Given the description of an element on the screen output the (x, y) to click on. 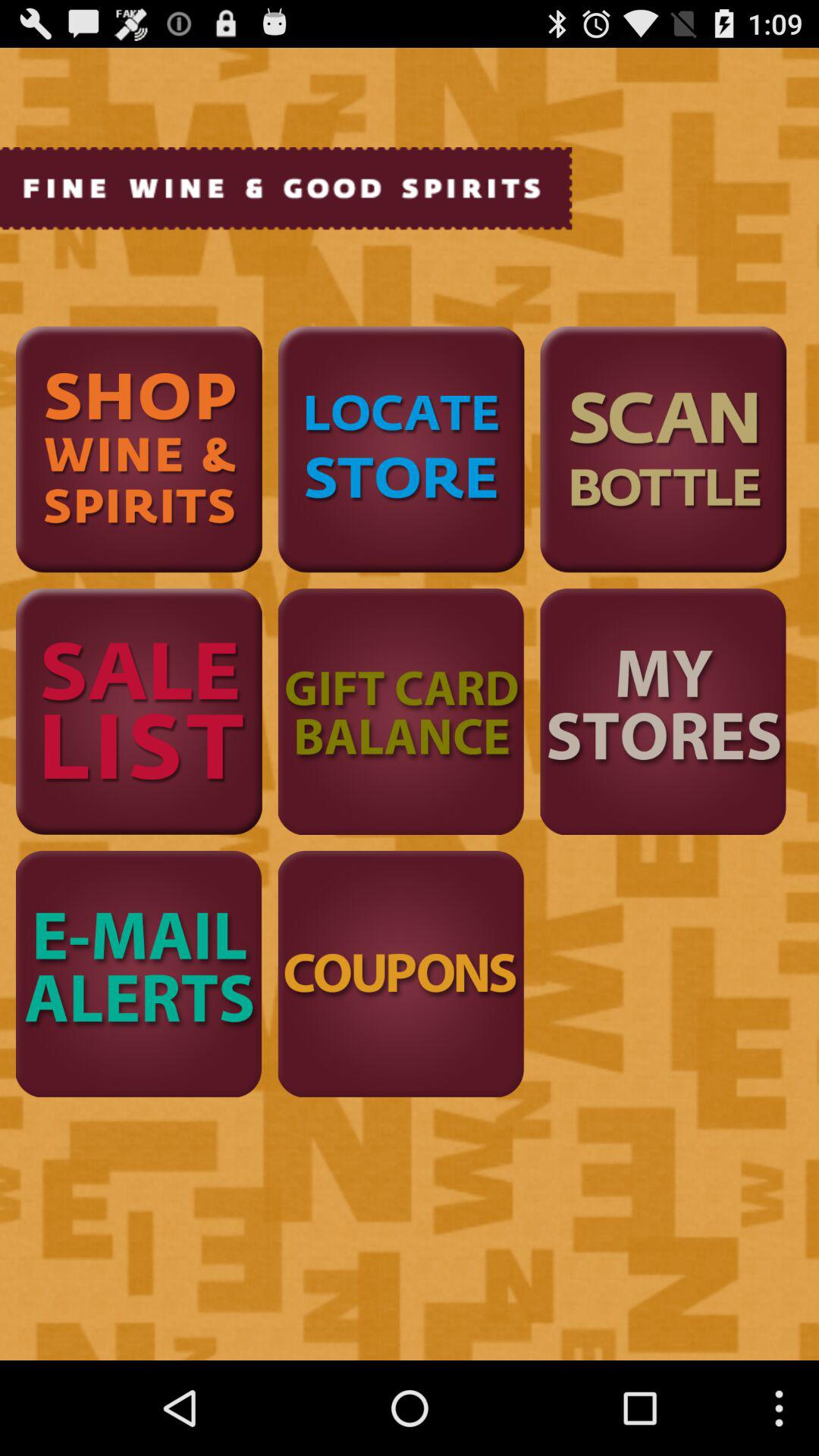
to find wine and spirits options (138, 449)
